Given the description of an element on the screen output the (x, y) to click on. 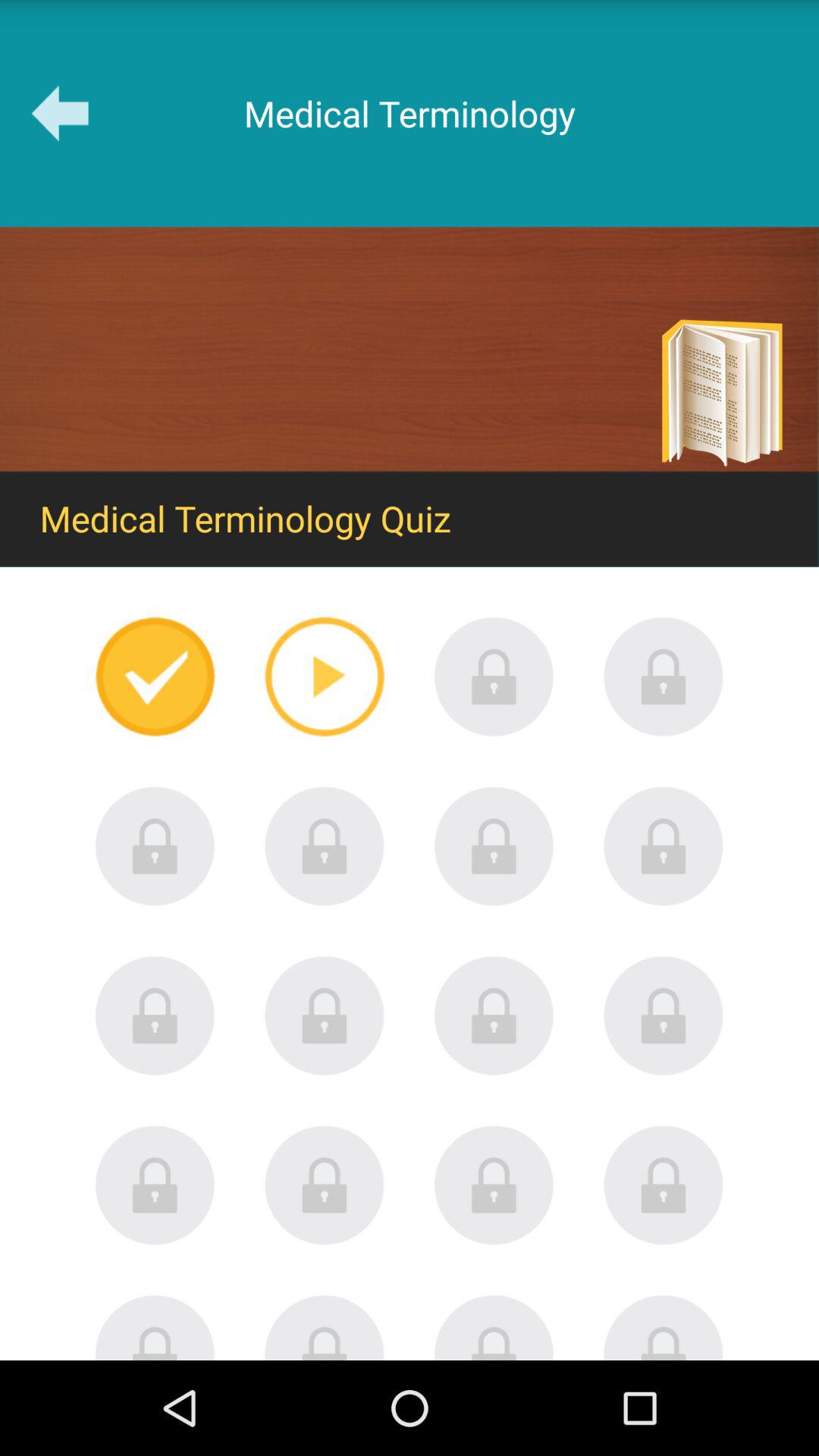
it is locked (493, 676)
